Given the description of an element on the screen output the (x, y) to click on. 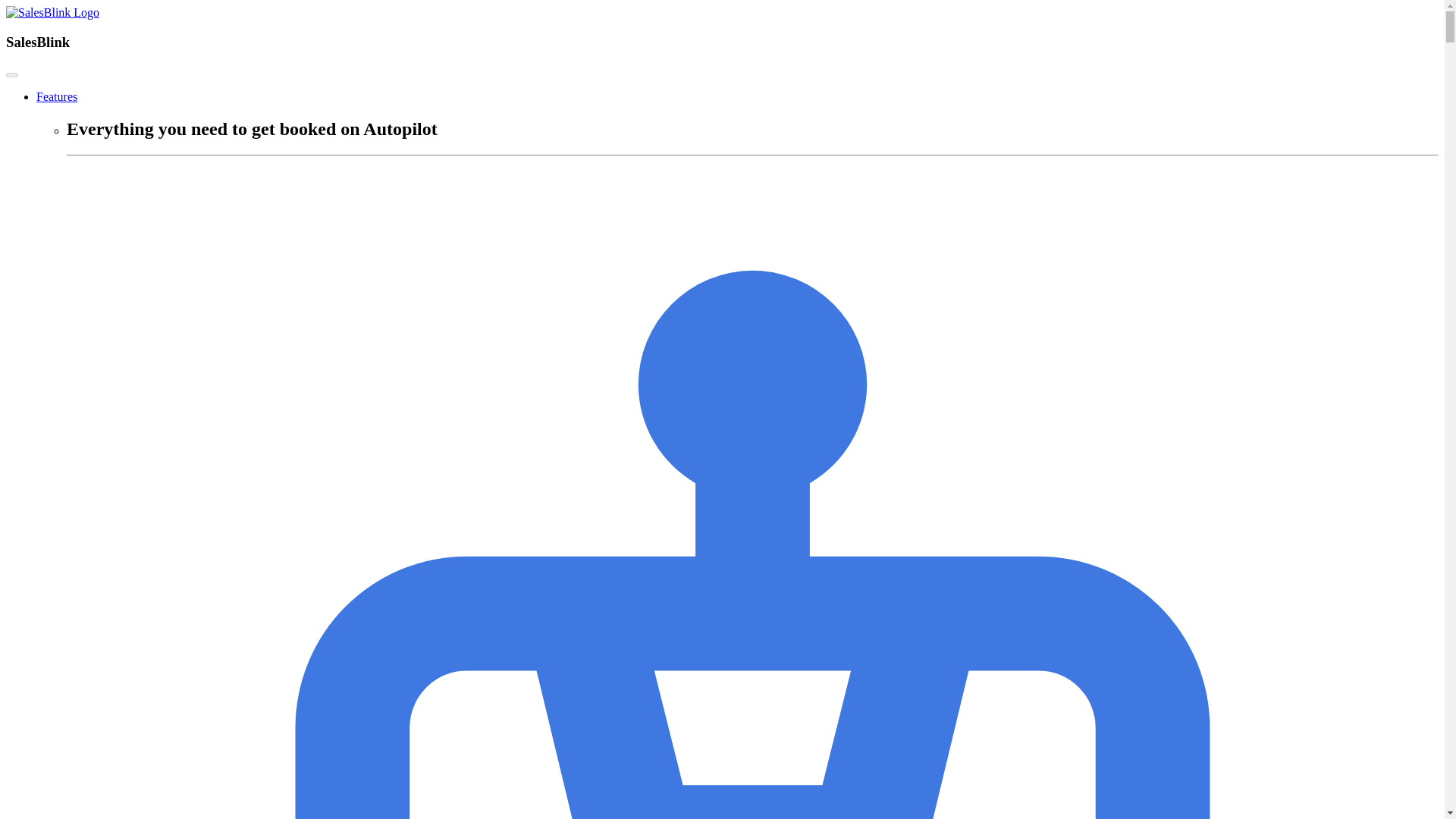
Features (56, 96)
SalesBlink Logo (52, 12)
